Given the description of an element on the screen output the (x, y) to click on. 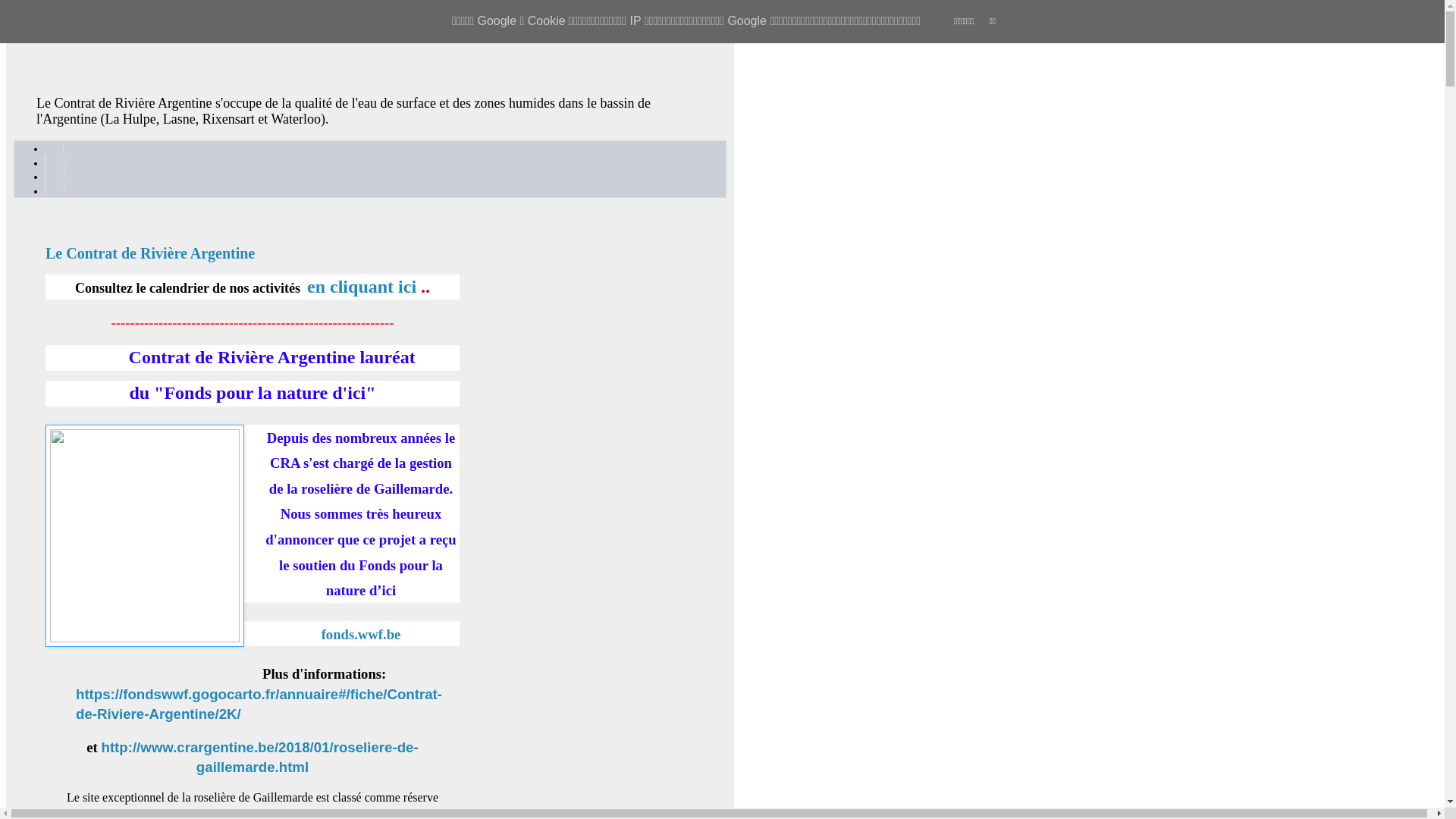
en cliquant ici Element type: text (361, 286)
fonds.wwf.be Element type: text (361, 634)
